Given the description of an element on the screen output the (x, y) to click on. 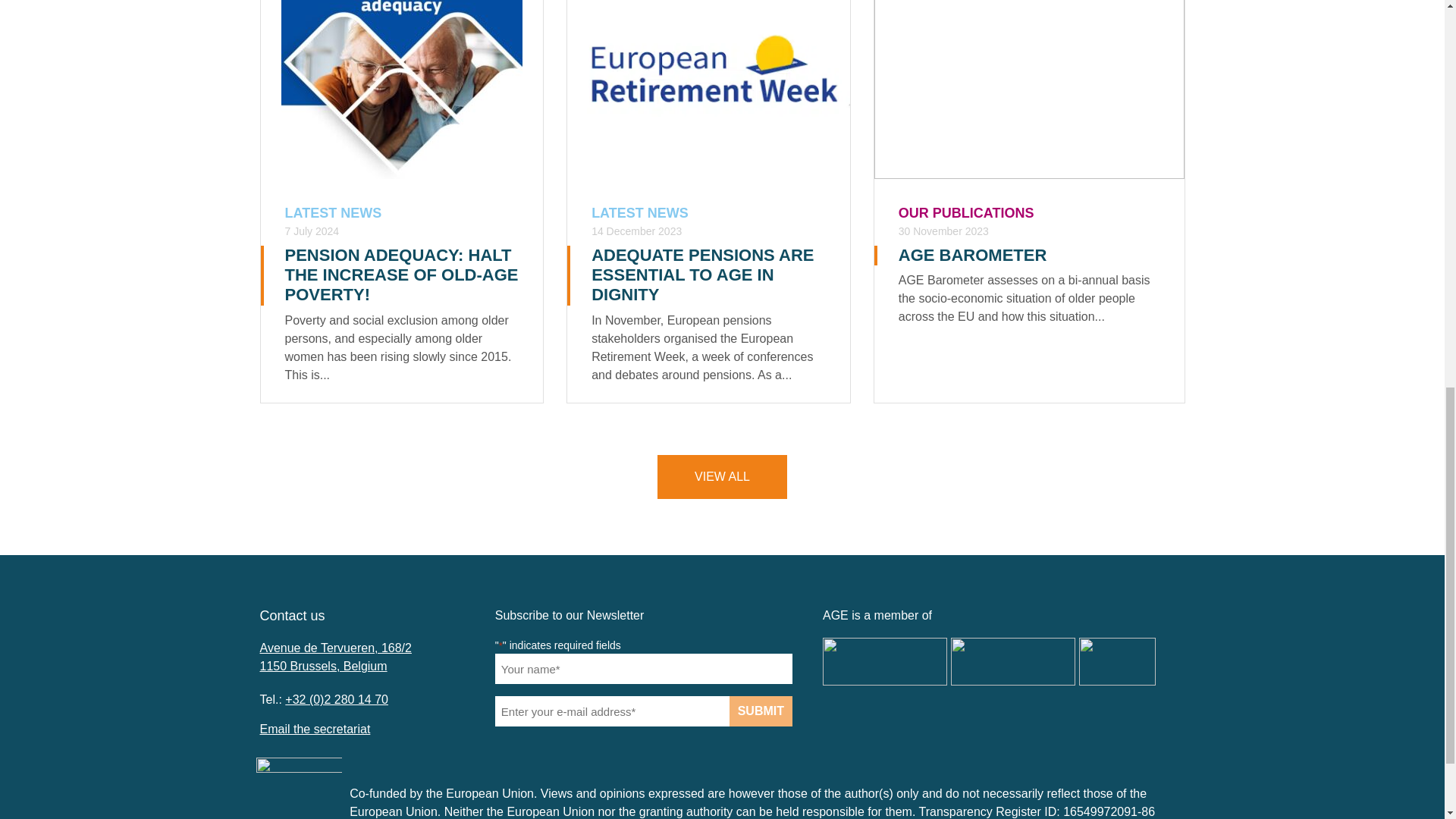
Email the secretariat (314, 728)
VIEW ALL (722, 476)
AGE BAROMETER (972, 254)
PENSION ADEQUACY: HALT THE INCREASE OF OLD-AGE POVERTY! (401, 274)
ADEQUATE PENSIONS ARE ESSENTIAL TO AGE IN DIGNITY (702, 274)
Submit (760, 711)
